Given the description of an element on the screen output the (x, y) to click on. 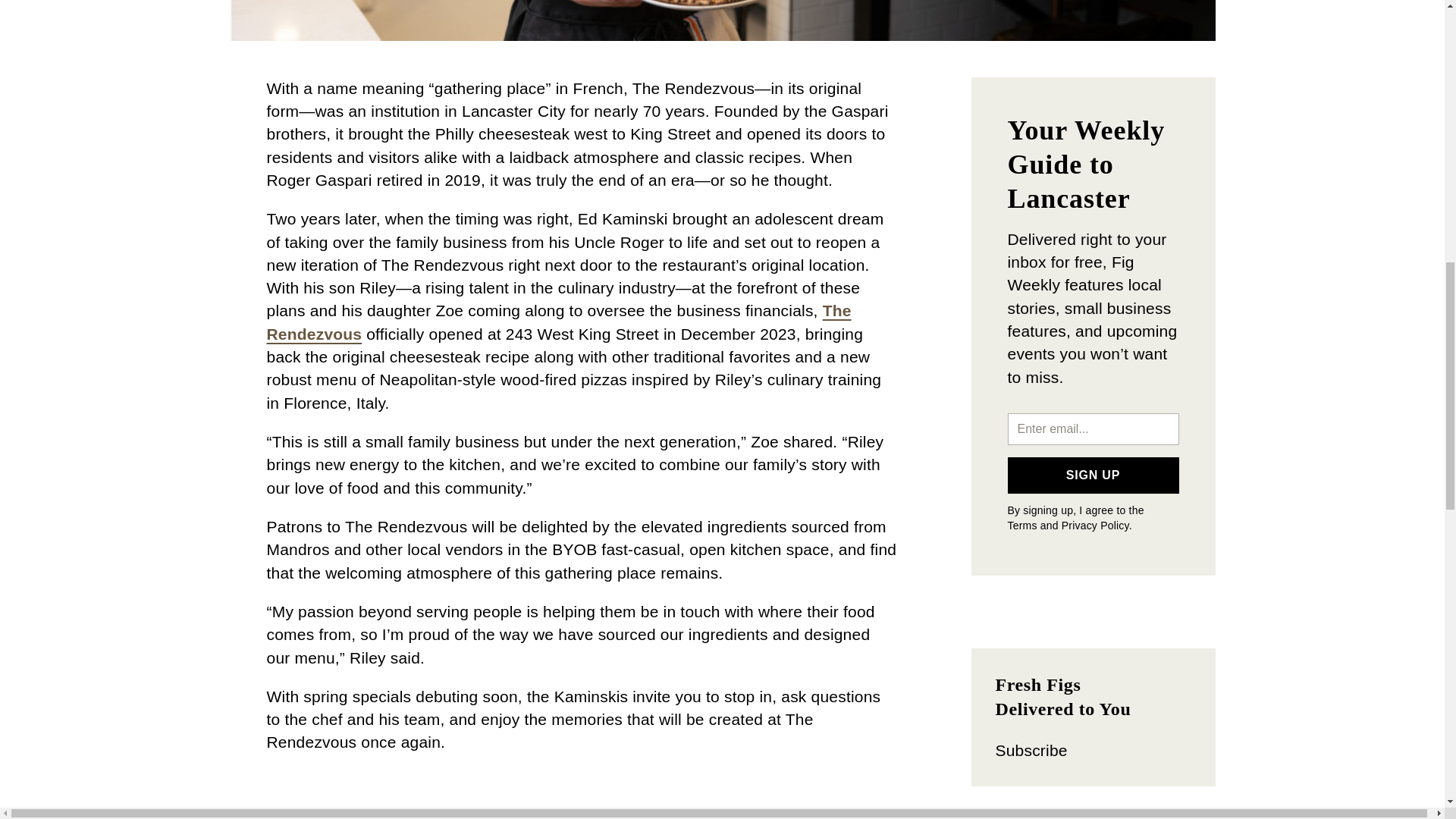
SIGN UP (1092, 475)
Subscribe (1030, 750)
The Rendezvous (558, 322)
